Given the description of an element on the screen output the (x, y) to click on. 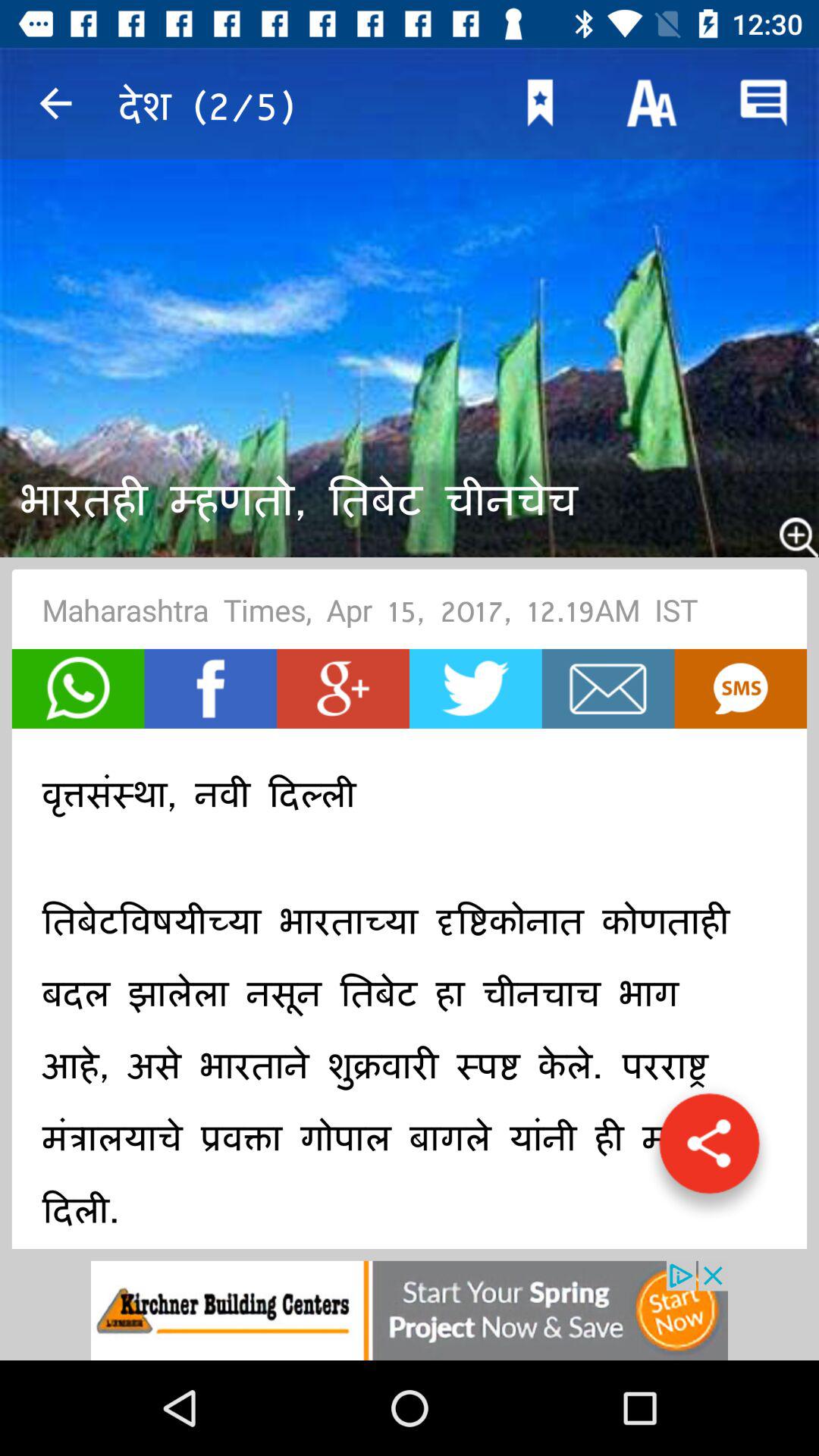
go back (55, 103)
